Given the description of an element on the screen output the (x, y) to click on. 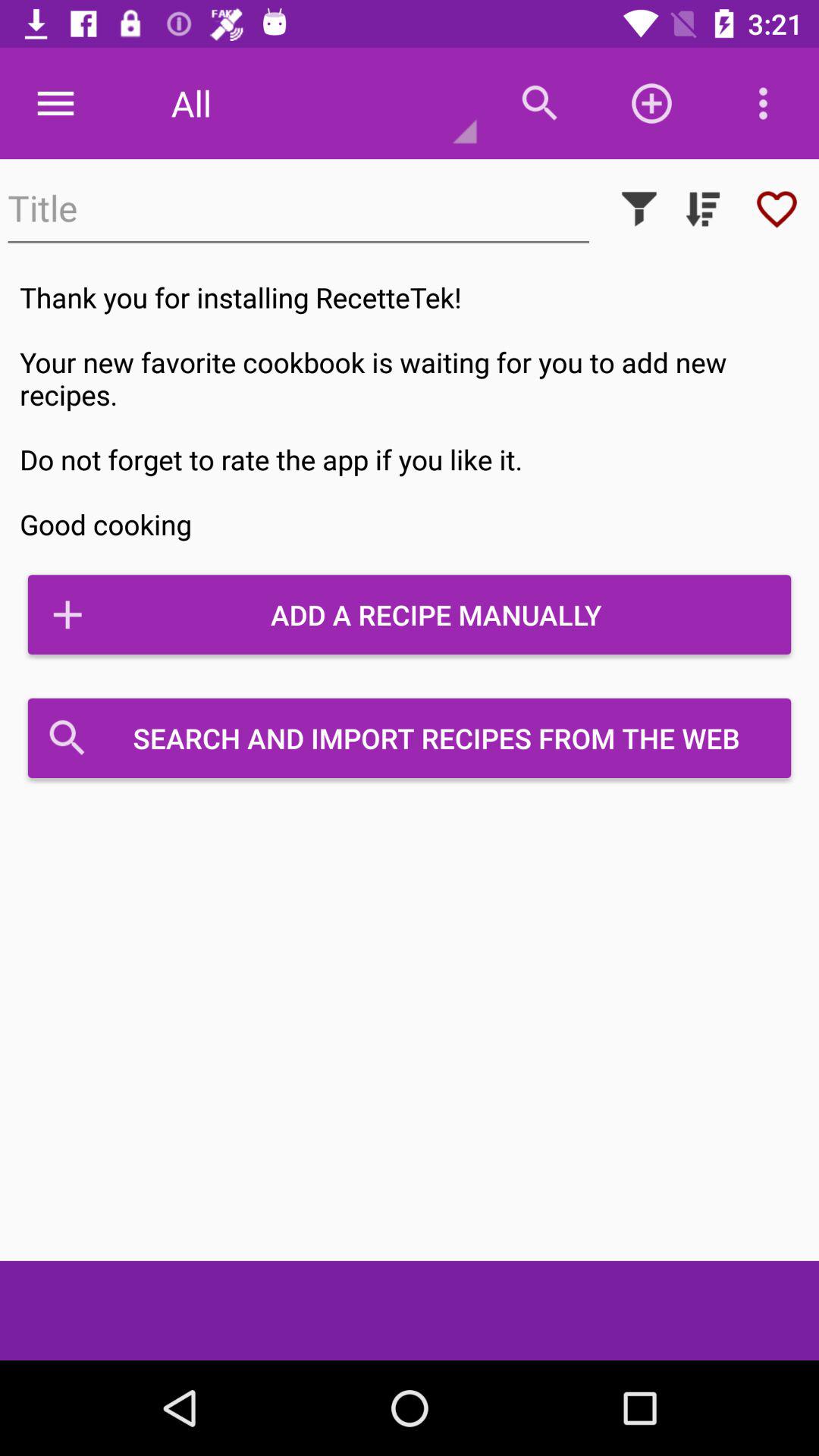
turn off icon below add a recipe item (409, 737)
